Given the description of an element on the screen output the (x, y) to click on. 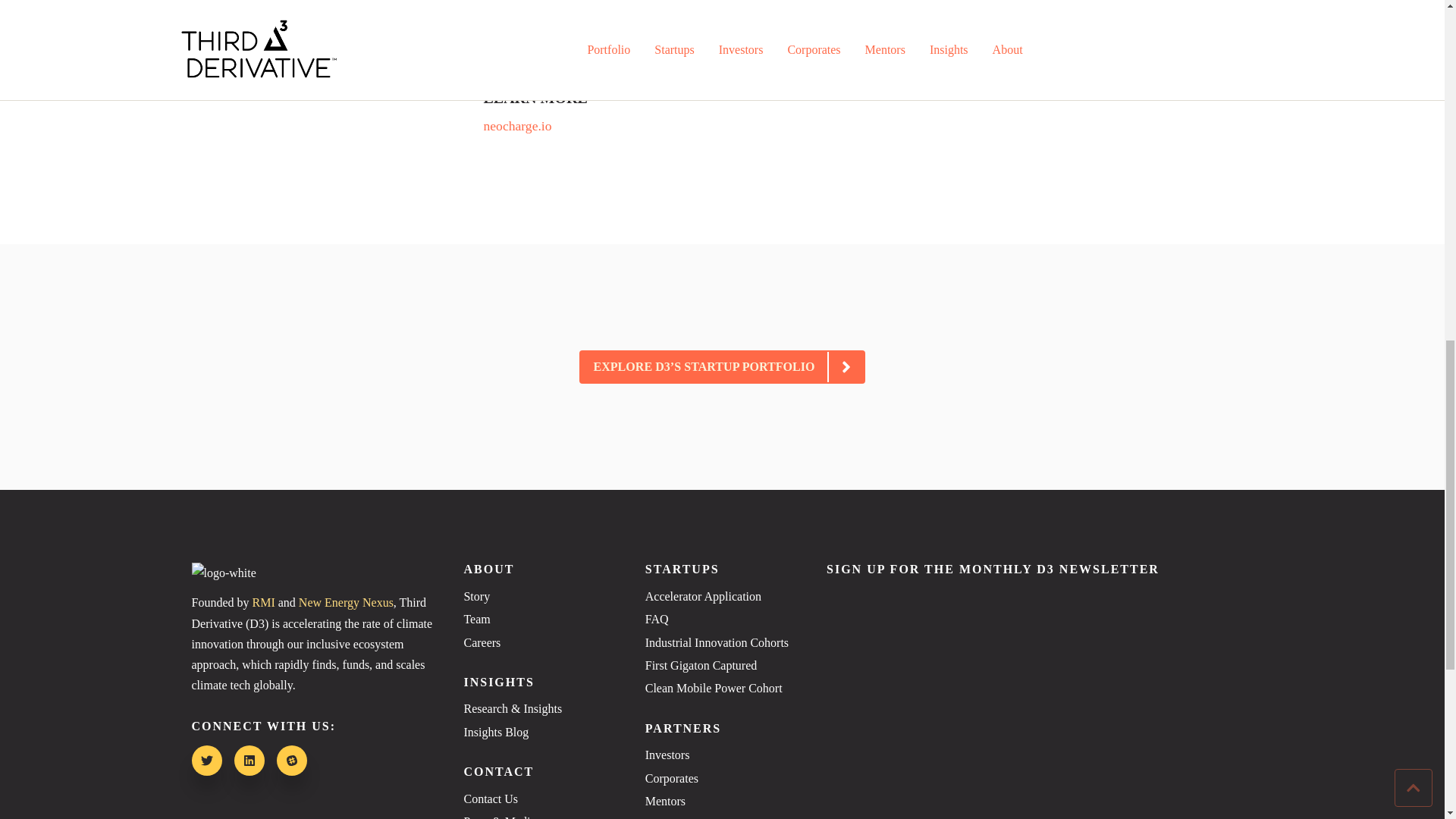
Contact Us (540, 799)
First Gigaton Captured (722, 665)
Clean Mobile Power Cohort (722, 688)
RMI (263, 602)
Story (540, 596)
Industrial Innovation Cohorts (722, 641)
New Energy Nexus (345, 602)
Team (540, 619)
Insights Blog (540, 732)
Mentors (722, 801)
